Given the description of an element on the screen output the (x, y) to click on. 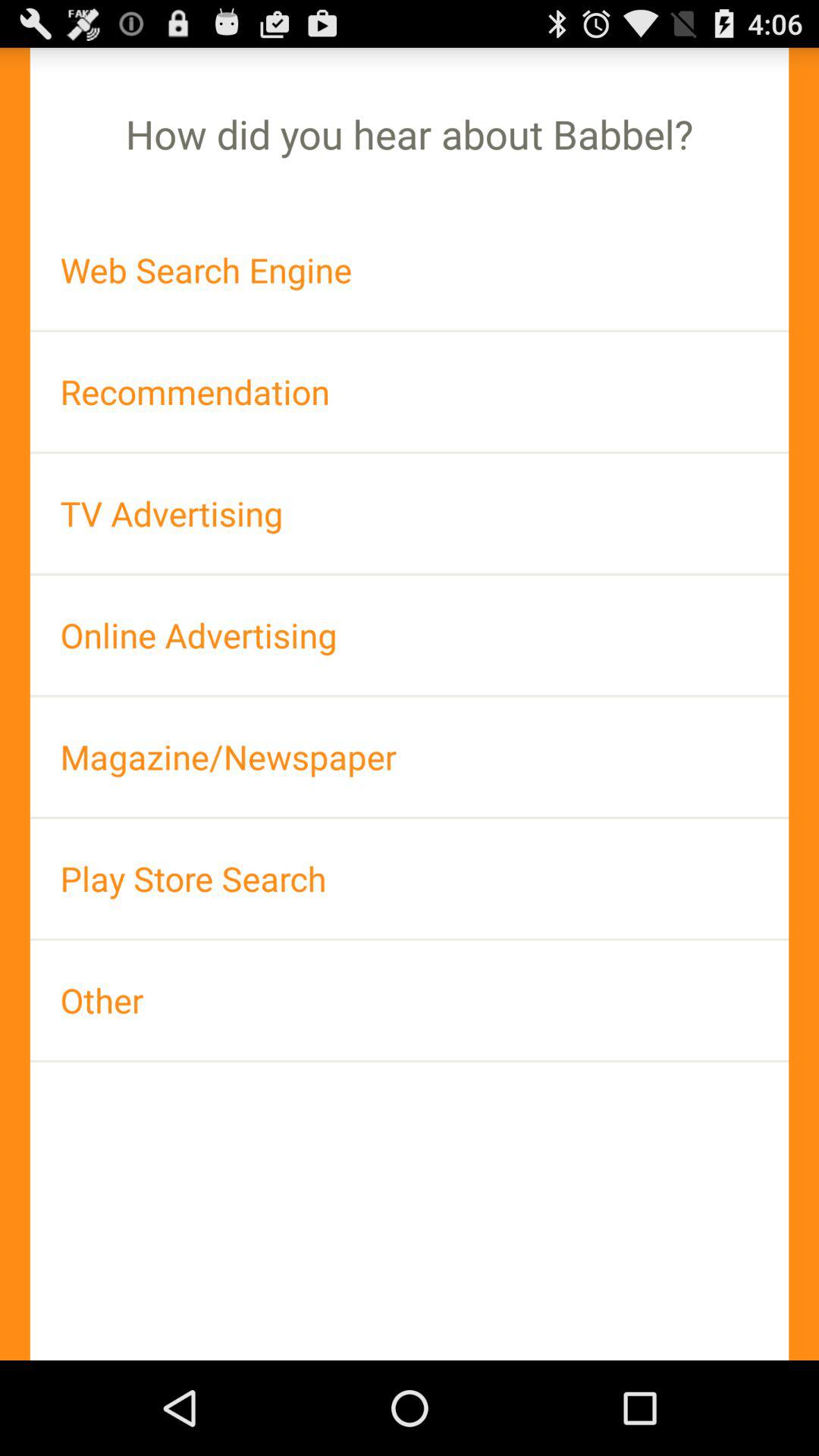
launch the app above the online advertising item (409, 513)
